Given the description of an element on the screen output the (x, y) to click on. 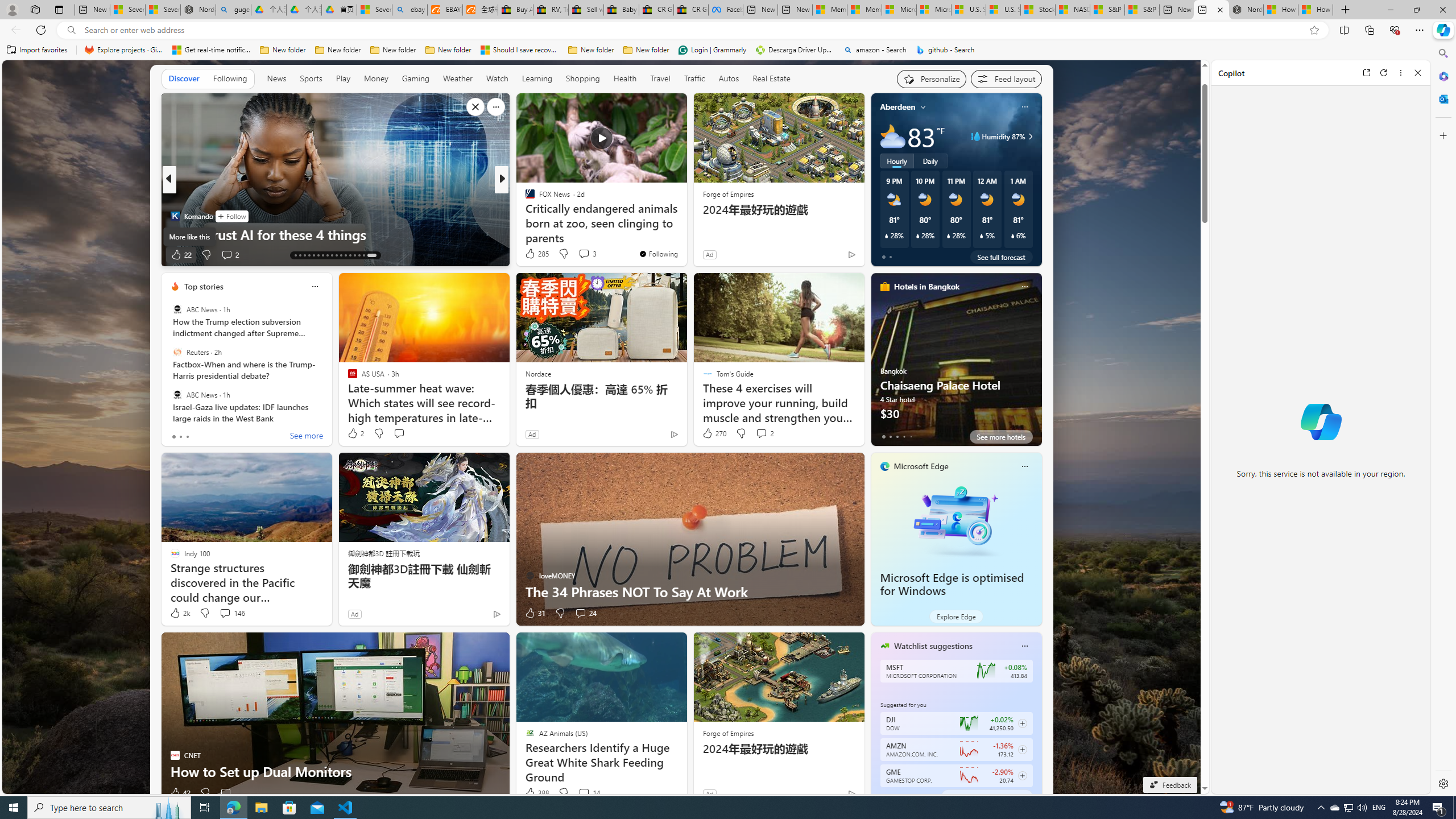
View comments 24 Comment (585, 612)
Shopping (583, 79)
Sports (310, 78)
RV, Trailer & Camper Steps & Ladders for sale | eBay (550, 9)
Feed settings (1005, 78)
New folder (646, 49)
My location (922, 106)
App bar (728, 29)
Class: weather-current-precipitation-glyph (1012, 235)
Start the conversation (225, 792)
22 Like (180, 254)
